Given the description of an element on the screen output the (x, y) to click on. 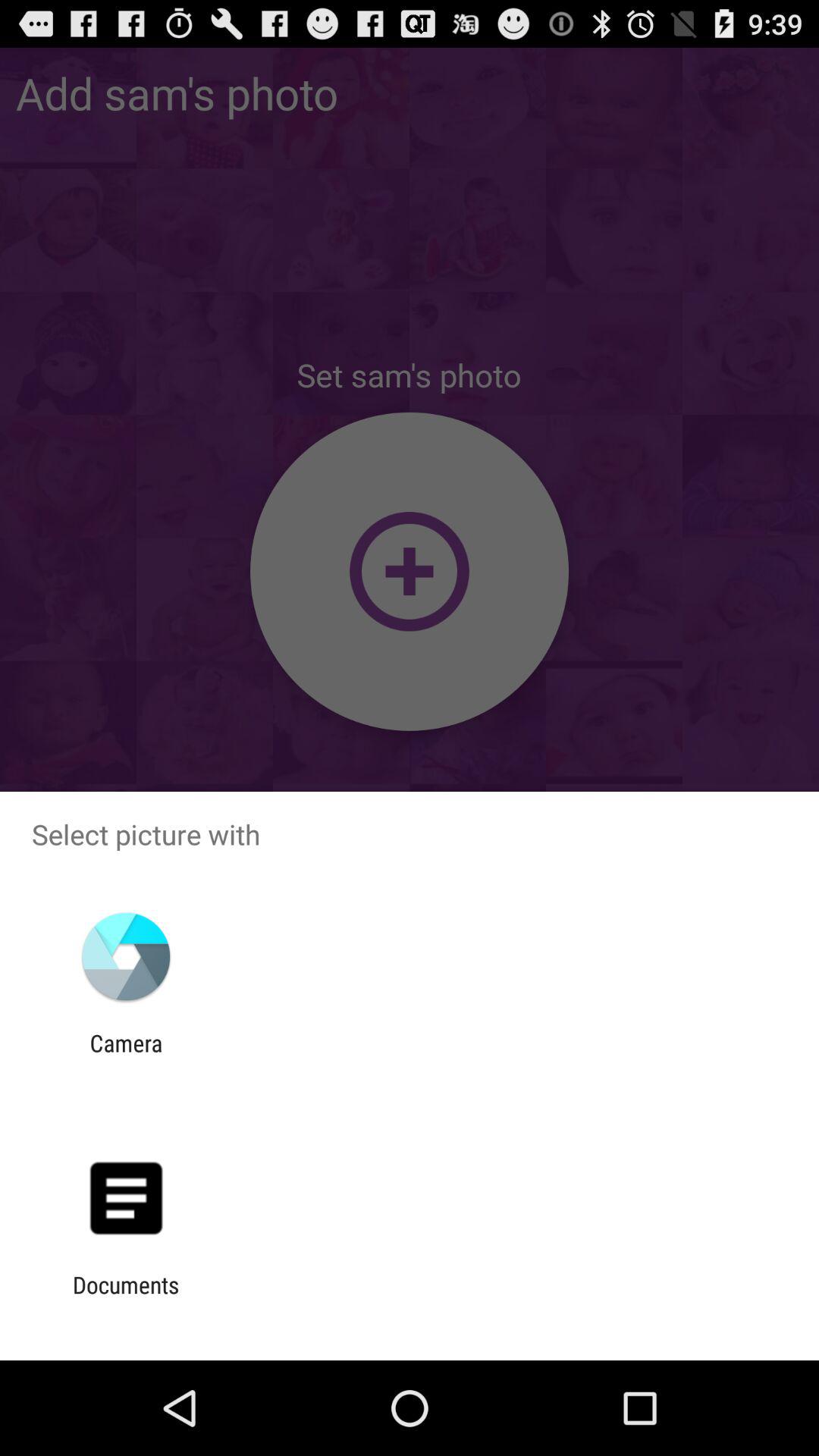
flip to the camera (125, 1056)
